Given the description of an element on the screen output the (x, y) to click on. 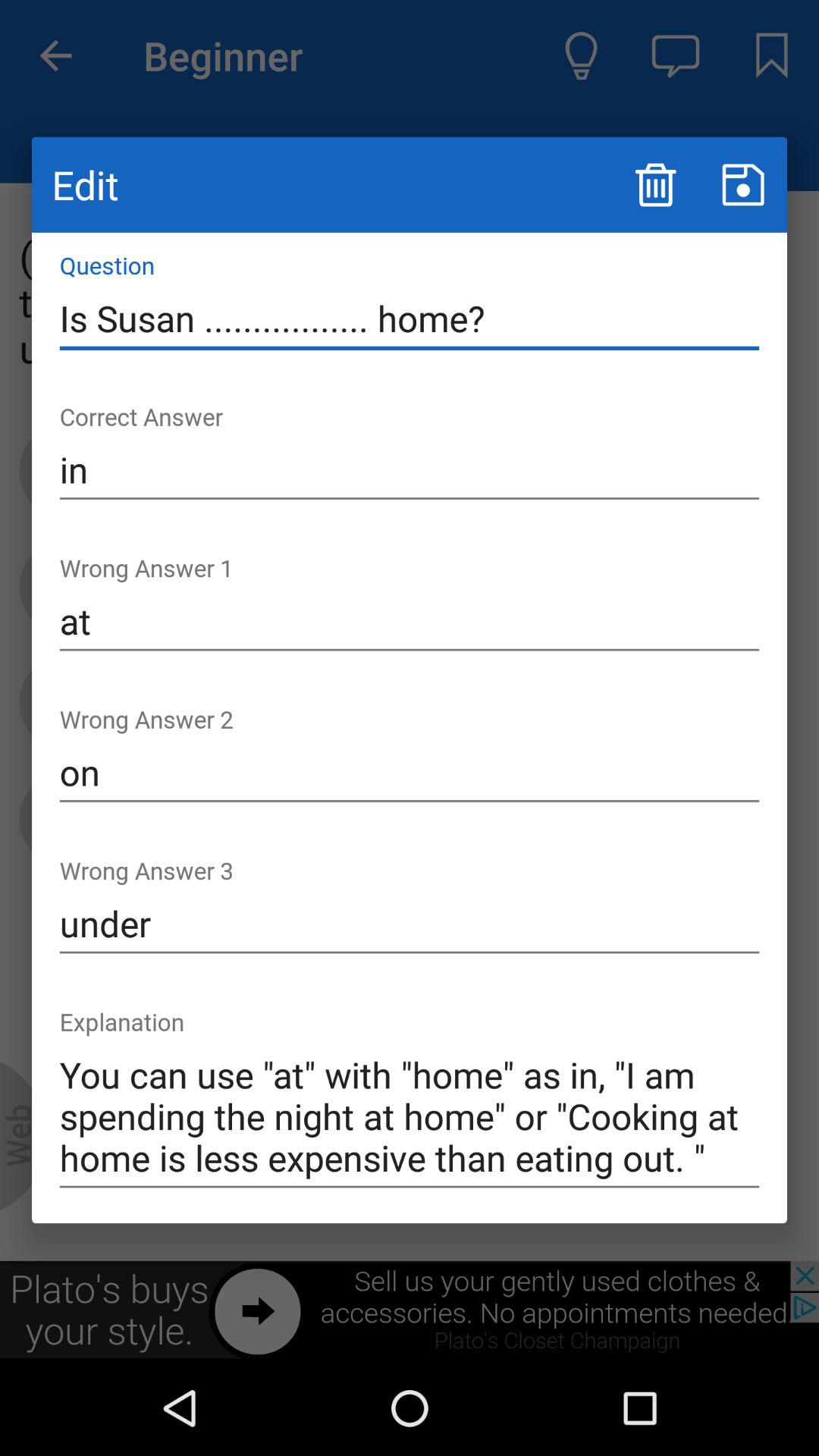
save information (743, 184)
